Given the description of an element on the screen output the (x, y) to click on. 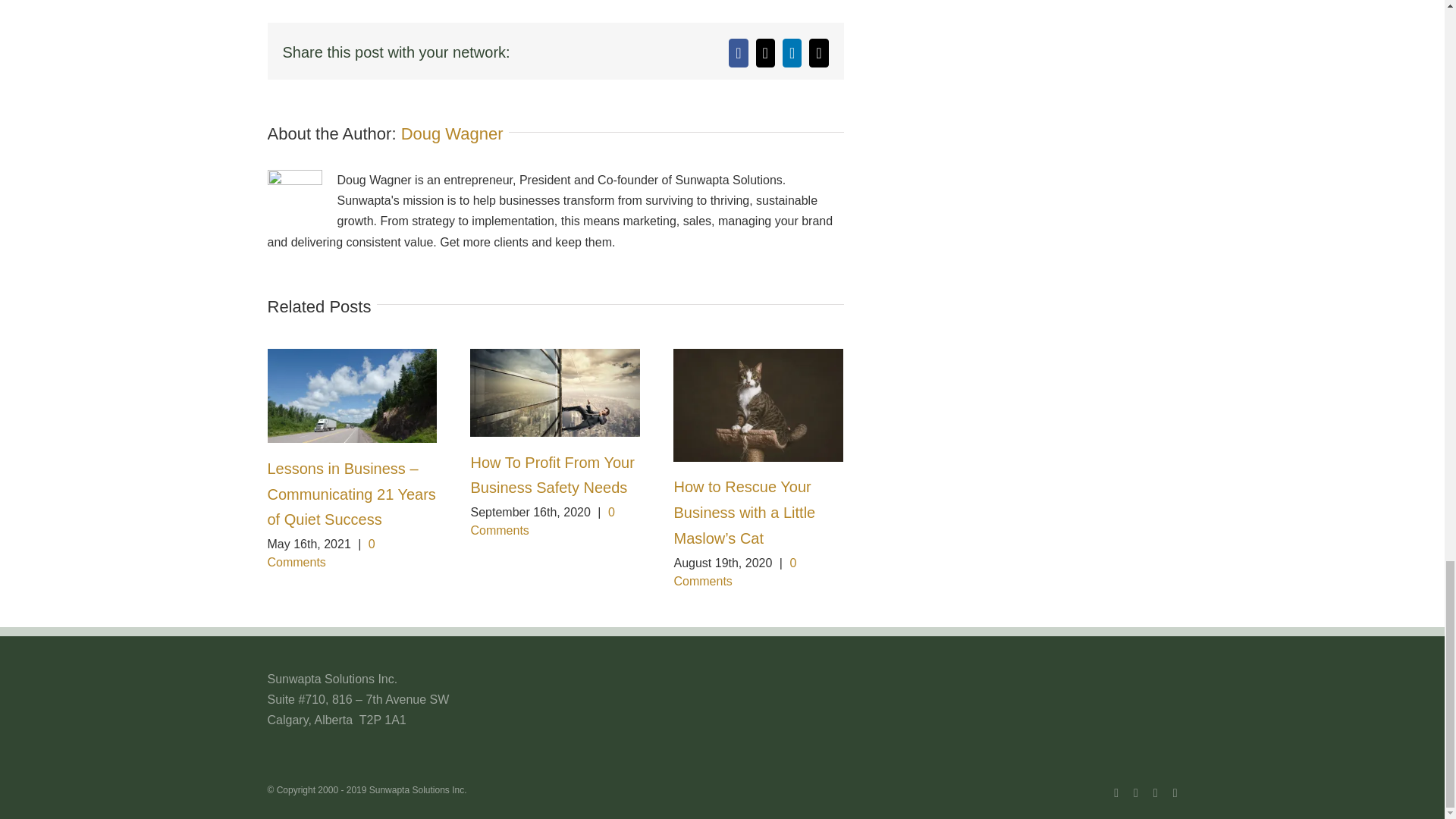
How To Profit From Your Business Safety Needs (551, 475)
Posts by Doug Wagner (452, 133)
0 Comments (320, 552)
0 Comments (542, 521)
Doug Wagner (452, 133)
